Given the description of an element on the screen output the (x, y) to click on. 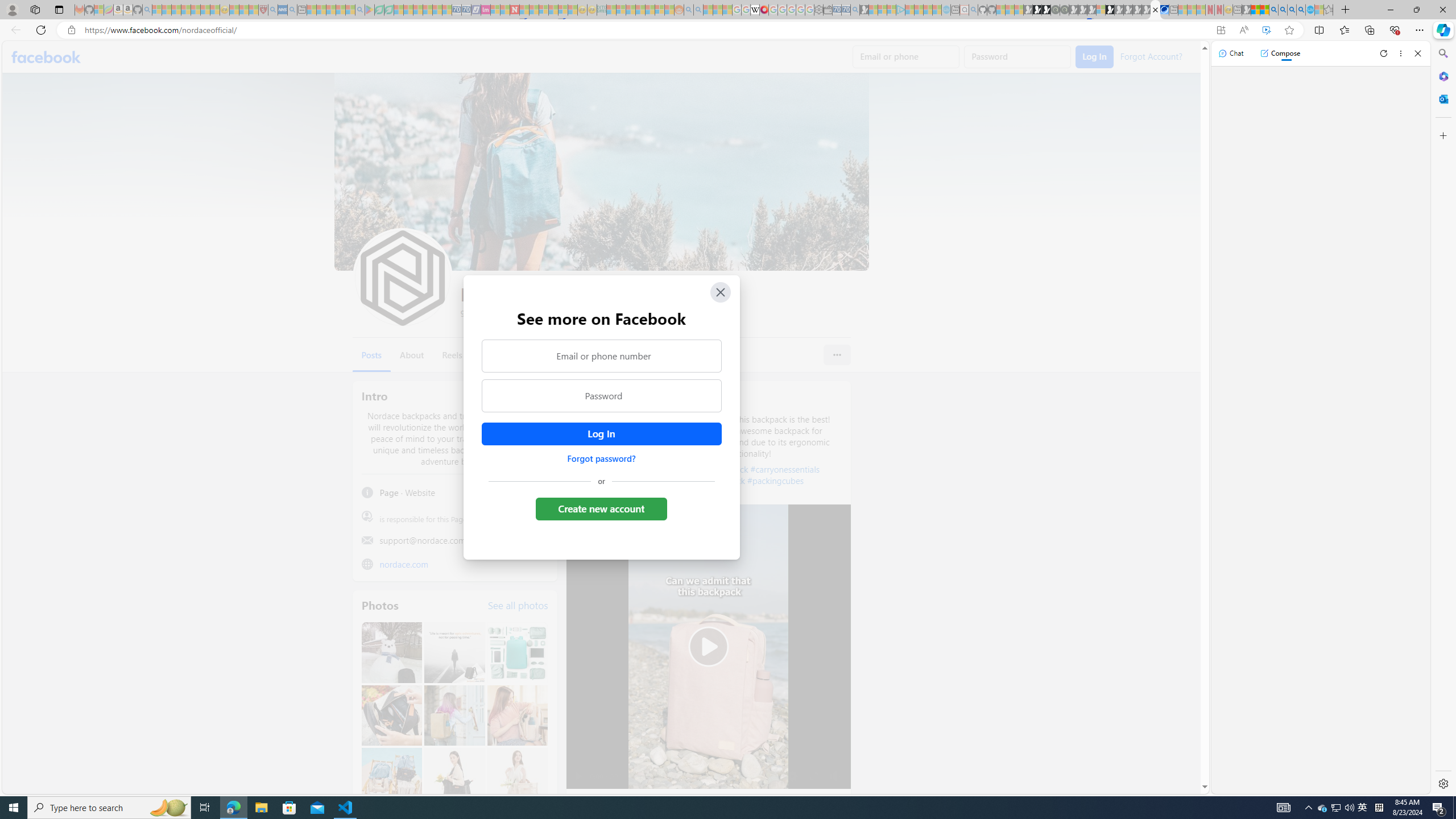
Facebook (46, 56)
Bing AI - Search (1272, 9)
Enhance video (1266, 29)
Sign in to your account - Sleeping (1100, 9)
